Given the description of an element on the screen output the (x, y) to click on. 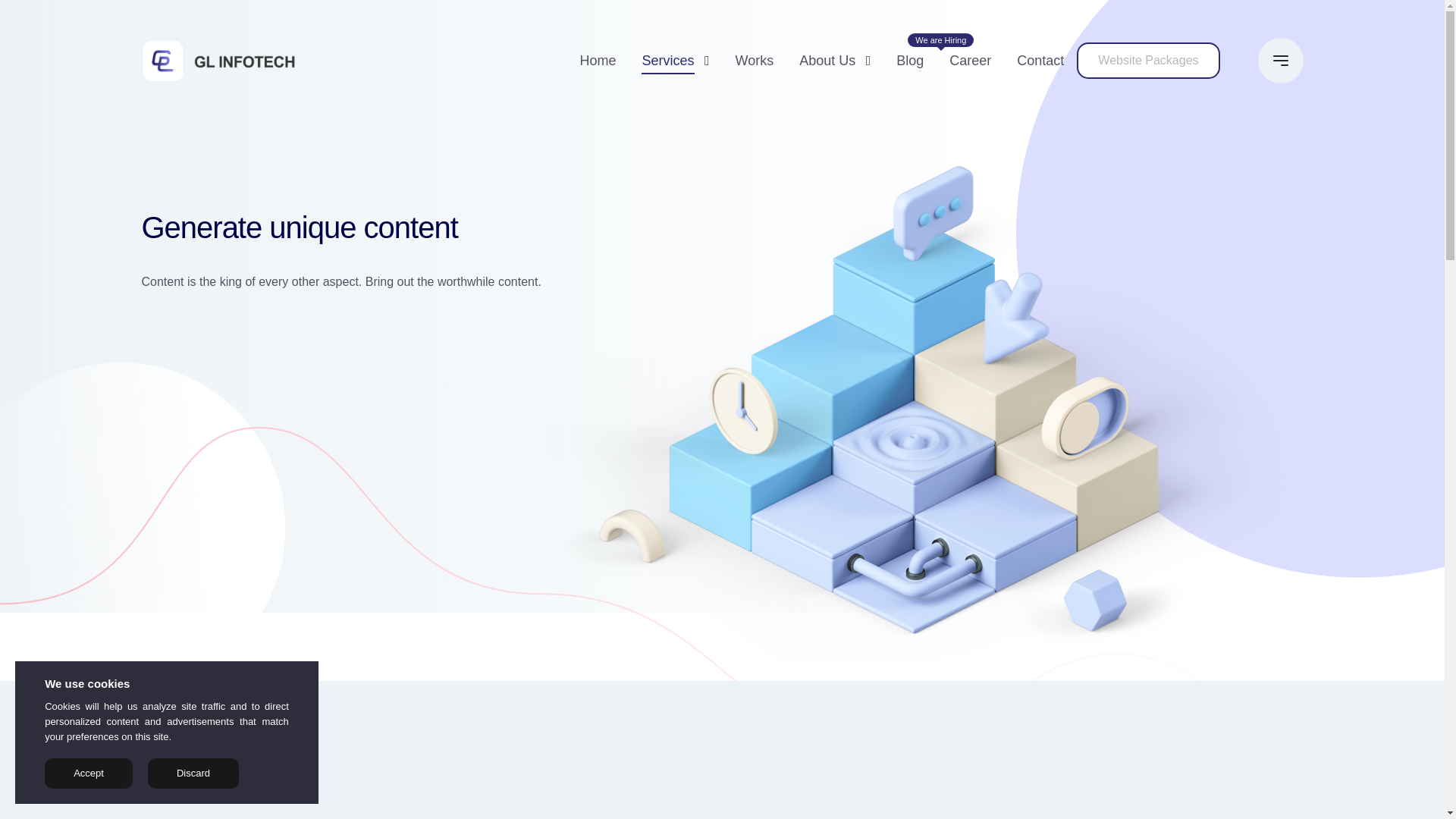
Website Packages (1148, 60)
GL Infotech (218, 60)
Services (668, 60)
Career (970, 60)
Contact (1040, 60)
About Us (827, 60)
